Given the description of an element on the screen output the (x, y) to click on. 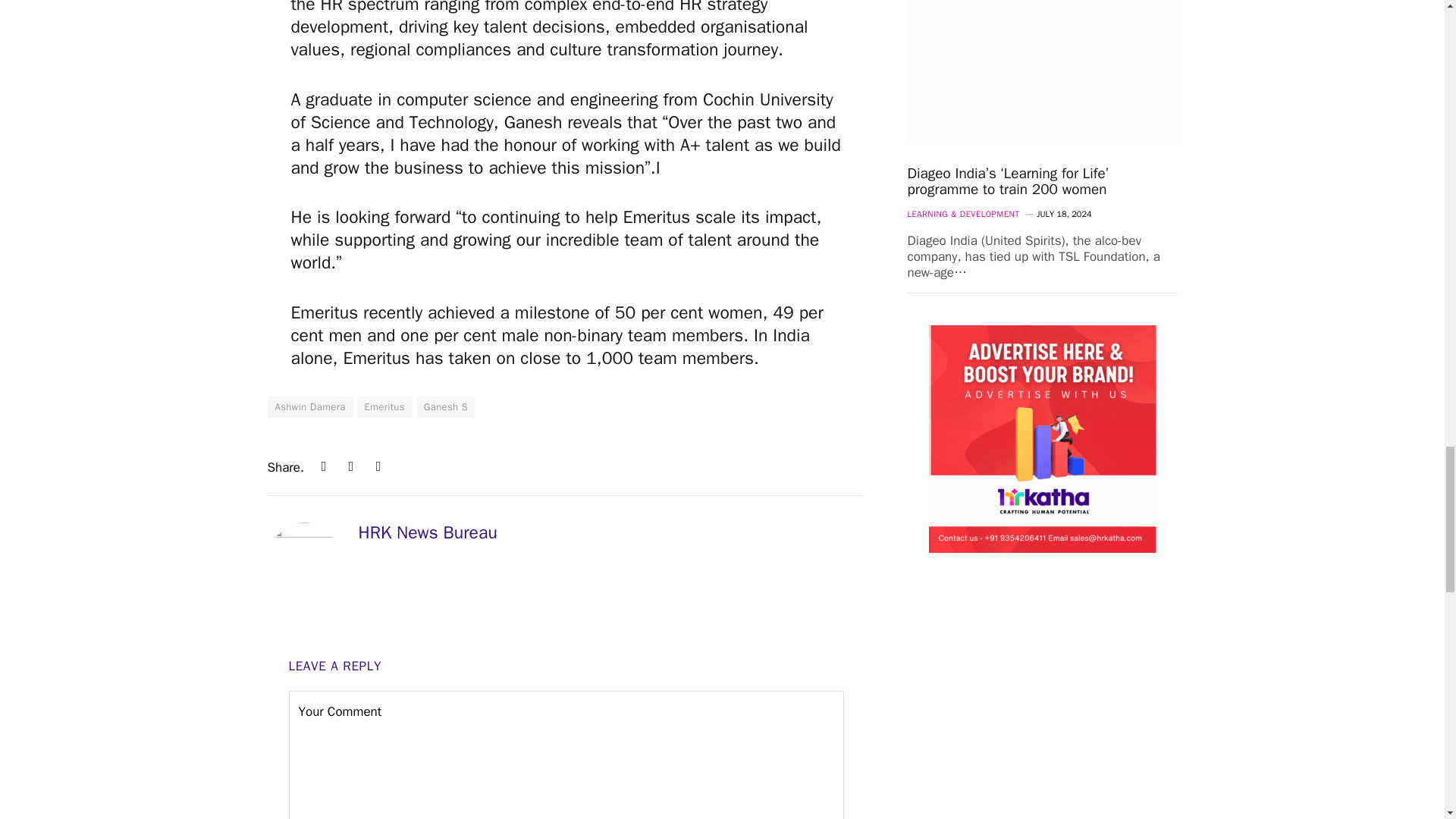
Share on LinkedIn (323, 466)
